Given the description of an element on the screen output the (x, y) to click on. 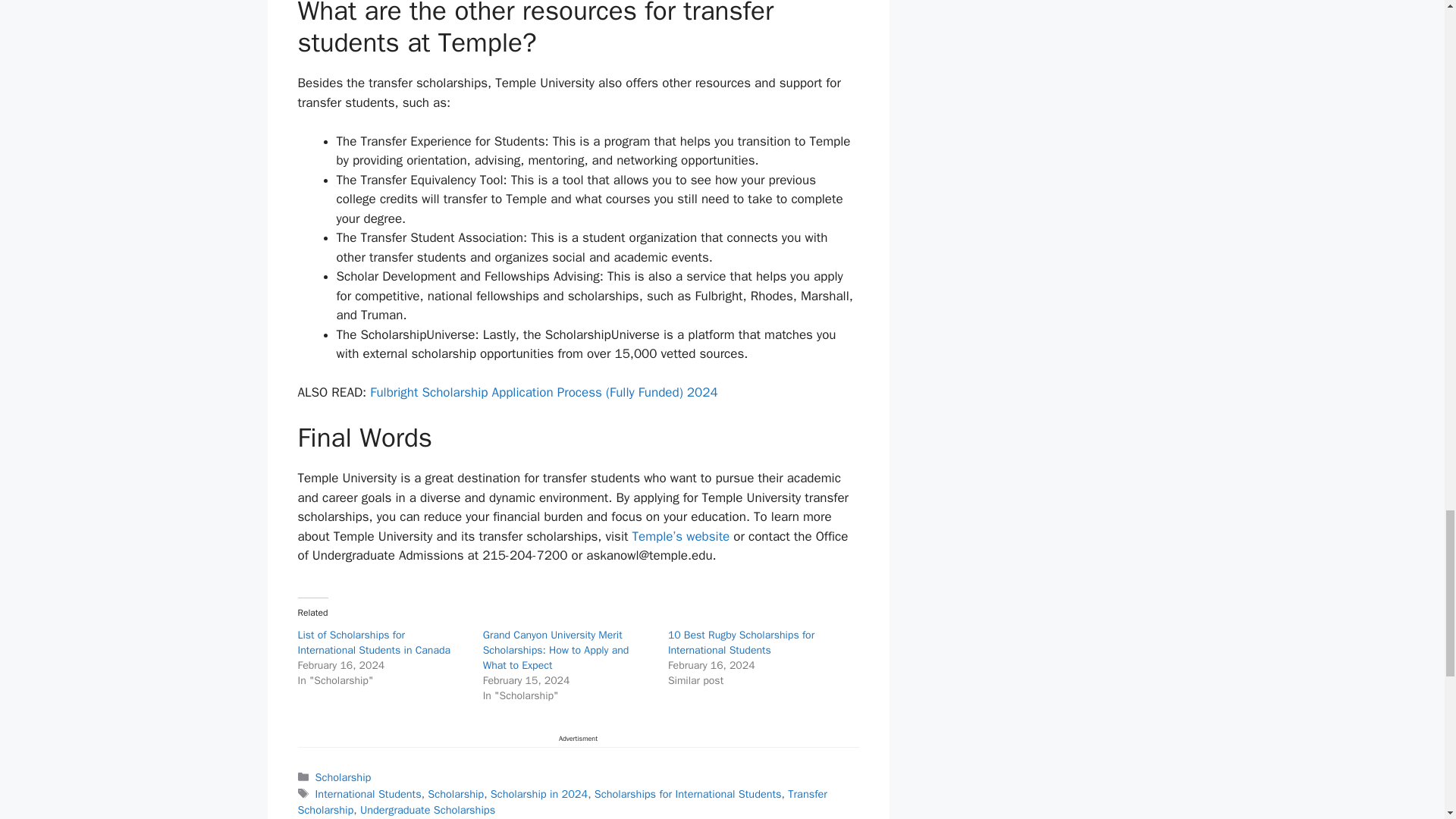
International Students (368, 793)
10 Best Rugby Scholarships for International Students (740, 642)
List of Scholarships for International Students in Canada (373, 642)
Scholarship (343, 776)
Undergraduate Scholarships (427, 809)
Scholarships for International Students (687, 793)
List of Scholarships for International Students in Canada (373, 642)
10 Best Rugby Scholarships for International Students (740, 642)
Scholarship (455, 793)
Scholarship in 2024 (539, 793)
Transfer Scholarship (562, 802)
